Given the description of an element on the screen output the (x, y) to click on. 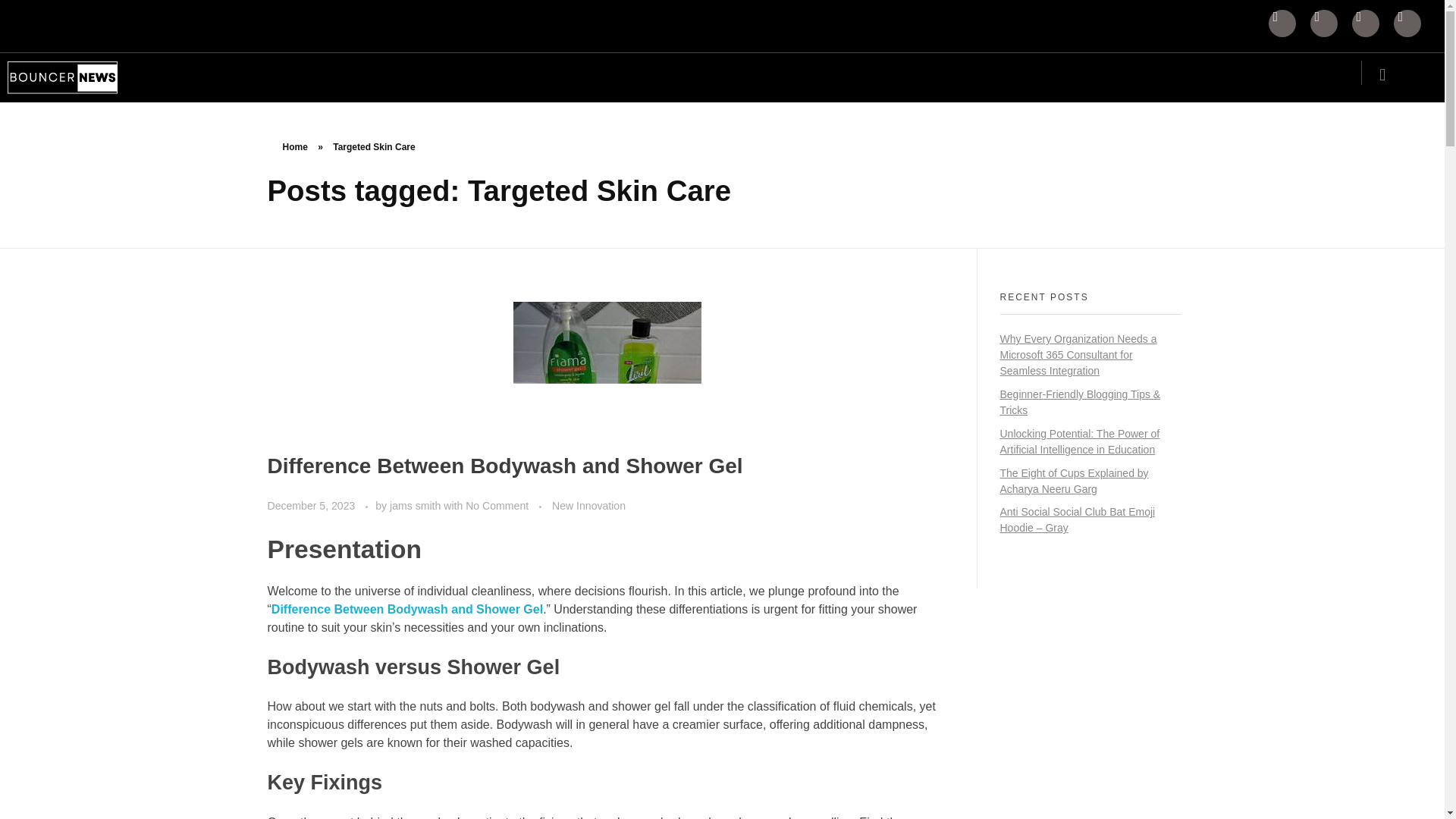
No Comment (496, 505)
jams smith (417, 505)
The Eight of Cups Explained by Acharya Neeru Garg (1073, 480)
December 5, 2023 (312, 505)
Difference Between Bodywash and Shower Gel (406, 608)
View all posts in New Innovation (588, 505)
Home (294, 146)
View all posts by jams smith (417, 505)
Difference Between Bodywash and Shower Gel (504, 465)
